Given the description of an element on the screen output the (x, y) to click on. 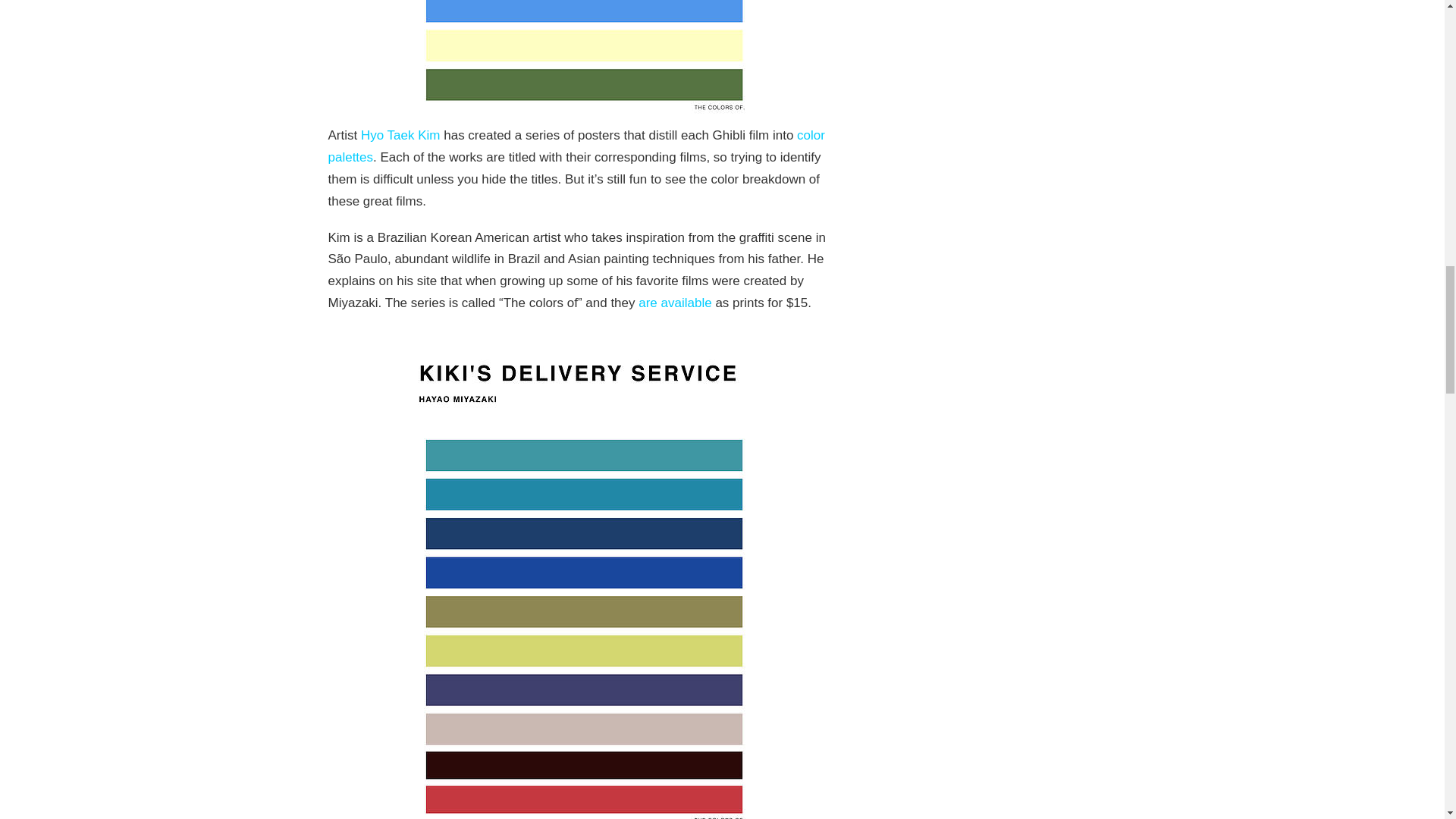
are available (675, 302)
Hyo Taek Kim (401, 134)
color palettes (575, 145)
